Given the description of an element on the screen output the (x, y) to click on. 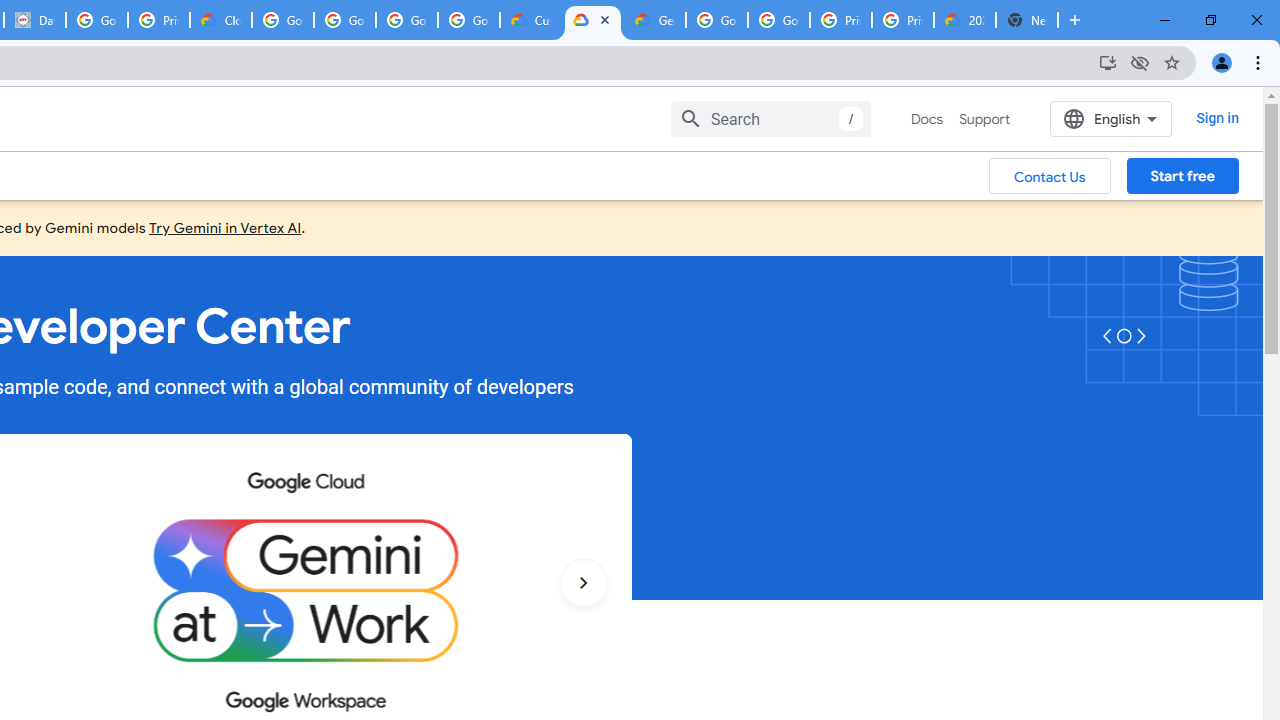
Contact Us (1050, 175)
